Given the description of an element on the screen output the (x, y) to click on. 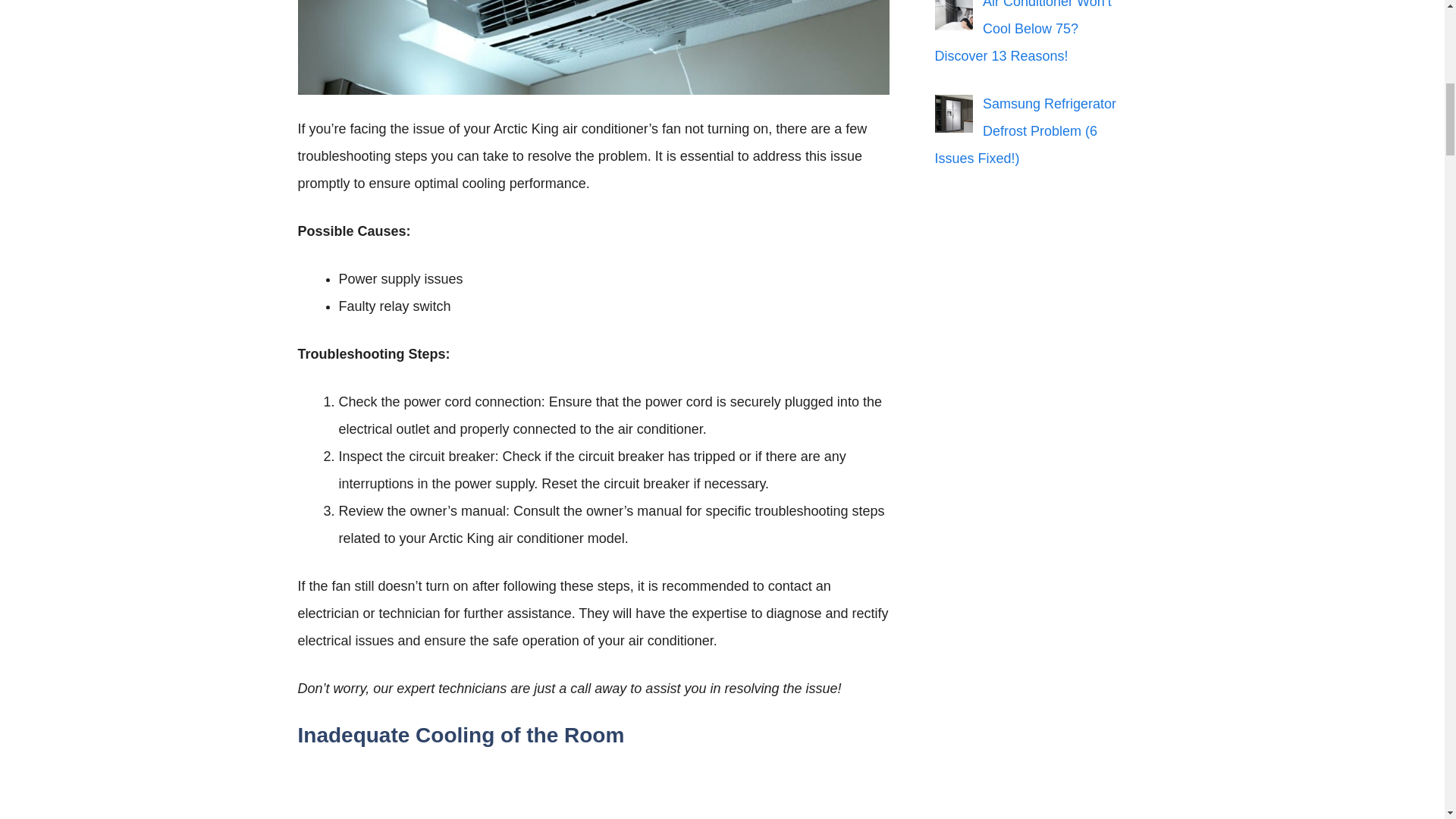
Arctic King air conditioner not cooling (592, 47)
Arctic King air conditioner troubleshooting (592, 791)
